Given the description of an element on the screen output the (x, y) to click on. 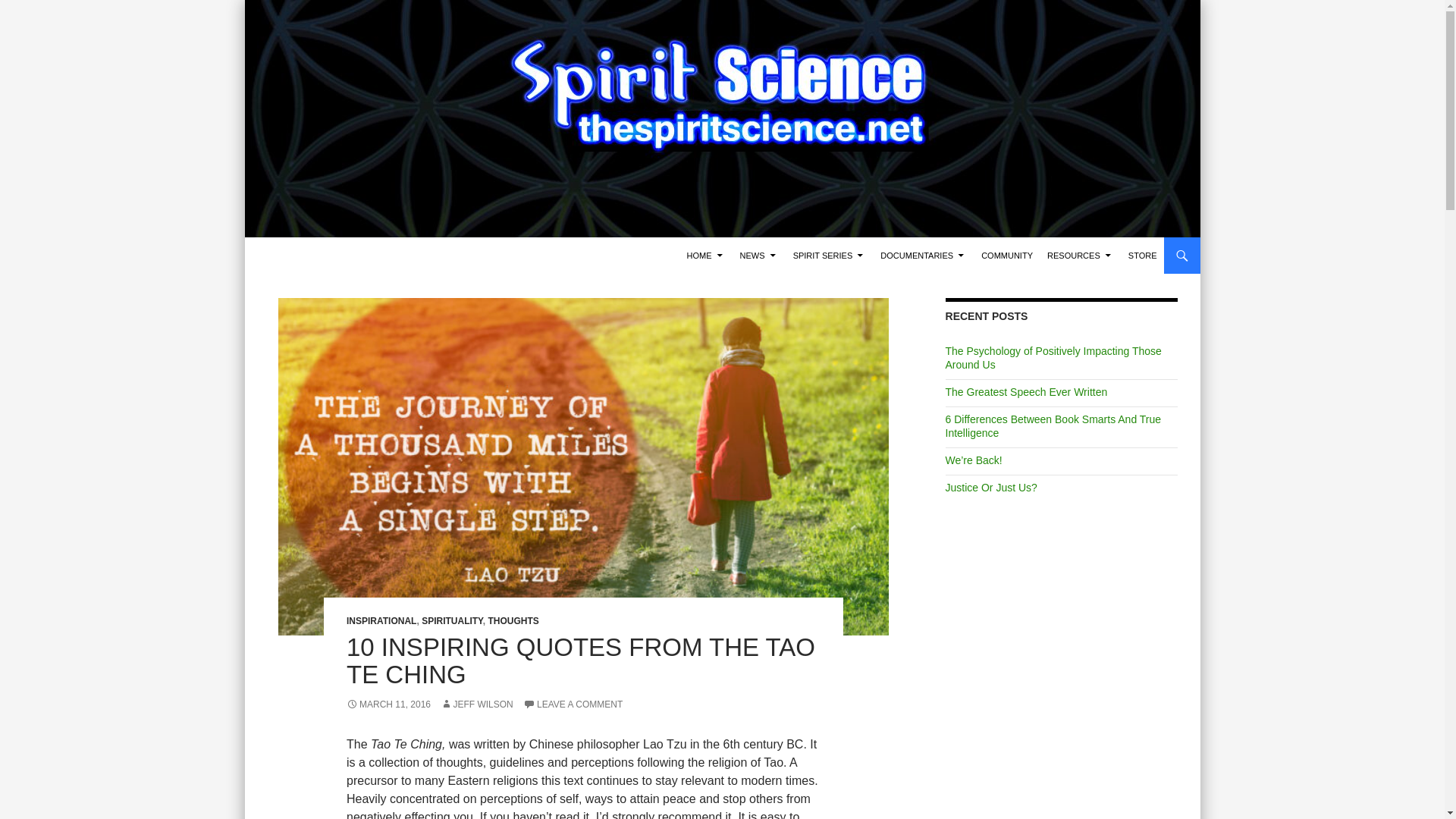
NEWS (758, 255)
HOME (706, 255)
SPIRIT SERIES (829, 255)
